Given the description of an element on the screen output the (x, y) to click on. 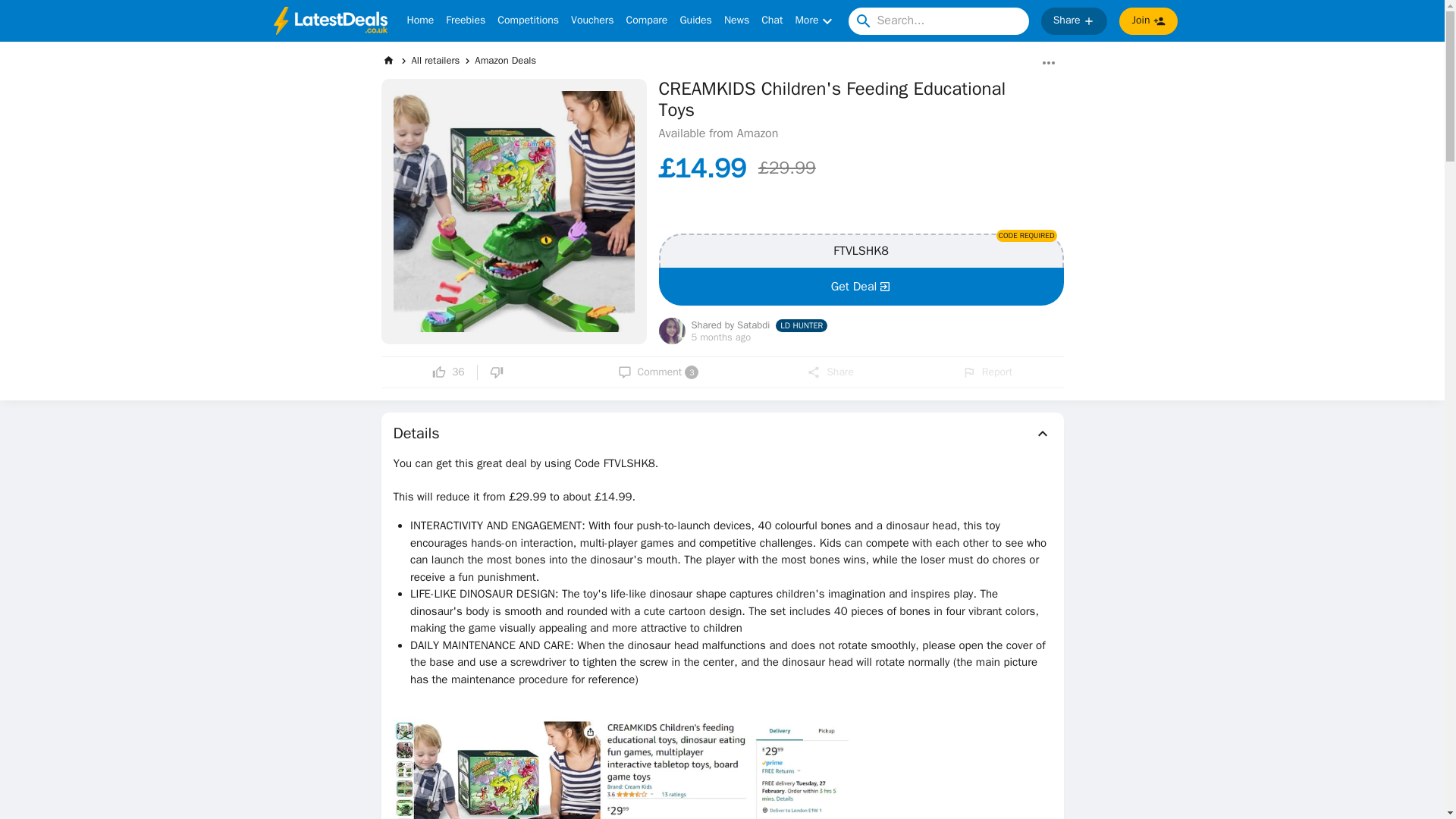
Shared by Satabdi (730, 325)
More (814, 21)
Home (419, 21)
Report (986, 371)
Chat (772, 21)
Guides (695, 21)
36 (448, 372)
Amazon Deals (657, 371)
Share (504, 60)
Freebies (829, 371)
Join (464, 21)
Share (1147, 21)
Details (1074, 21)
All retailers (722, 434)
